Given the description of an element on the screen output the (x, y) to click on. 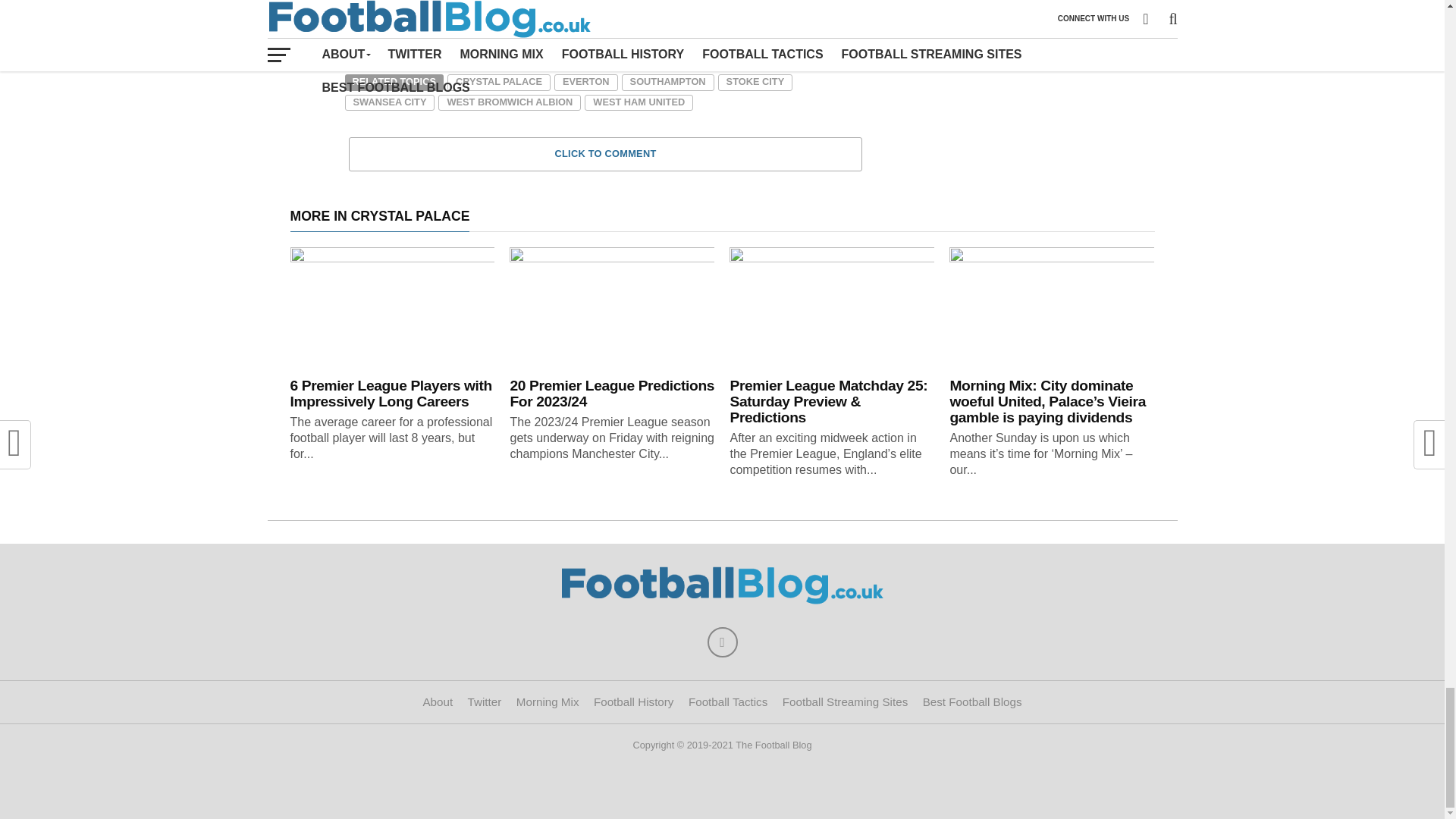
WEST HAM UNITED (639, 103)
SOUTHAMPTON (667, 82)
STOKE CITY (755, 82)
EVERTON (585, 82)
CRYSTAL PALACE (498, 82)
WEST BROMWICH ALBION (509, 103)
SWANSEA CITY (388, 103)
